Given the description of an element on the screen output the (x, y) to click on. 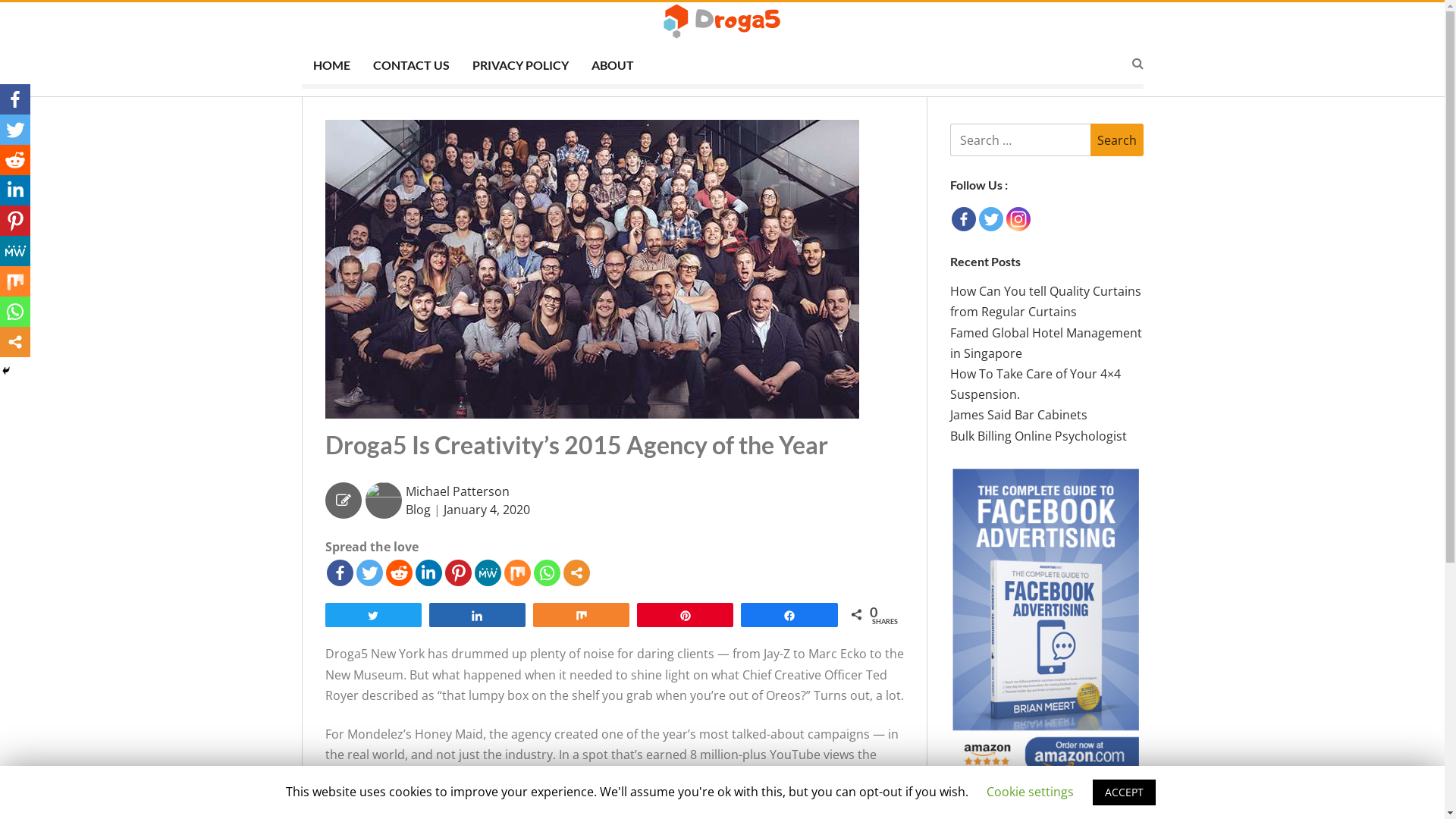
Michael Patterson Element type: text (456, 491)
More Element type: hover (15, 341)
Linkedin Element type: hover (428, 572)
ABOUT Element type: text (611, 67)
Hide Element type: hover (6, 370)
Blog Element type: text (416, 509)
Reddit Element type: hover (15, 159)
Pinterest Element type: hover (457, 572)
ACCEPT Element type: text (1123, 792)
Whatsapp Element type: hover (15, 311)
James Said Bar Cabinets Element type: text (1017, 414)
Pinterest Element type: hover (15, 220)
Whatsapp Element type: hover (546, 572)
Reddit Element type: hover (398, 572)
PRIVACY POLICY Element type: text (520, 67)
CONTACT US Element type: text (410, 67)
Twitter Element type: hover (15, 129)
Cookie settings Element type: text (1029, 791)
Facebook Element type: hover (962, 219)
More Element type: hover (575, 572)
Search Element type: text (797, 432)
MeWe Element type: hover (15, 250)
Bulk Billing Online Psychologist Element type: text (1037, 435)
How Can You tell Quality Curtains from Regular Curtains Element type: text (1044, 301)
MeWe Element type: hover (487, 572)
Search Element type: text (1116, 139)
Instagram Element type: hover (1017, 219)
Famed Global Hotel Management in Singapore Element type: text (1045, 342)
January 4, 2020 Element type: text (485, 509)
Mix Element type: hover (516, 572)
Linkedin Element type: hover (15, 190)
Twitter Element type: hover (369, 572)
Facebook Element type: hover (339, 572)
Mix Element type: hover (15, 281)
Twitter Element type: hover (990, 219)
Facebook Element type: hover (15, 99)
HOME Element type: text (331, 67)
